Given the description of an element on the screen output the (x, y) to click on. 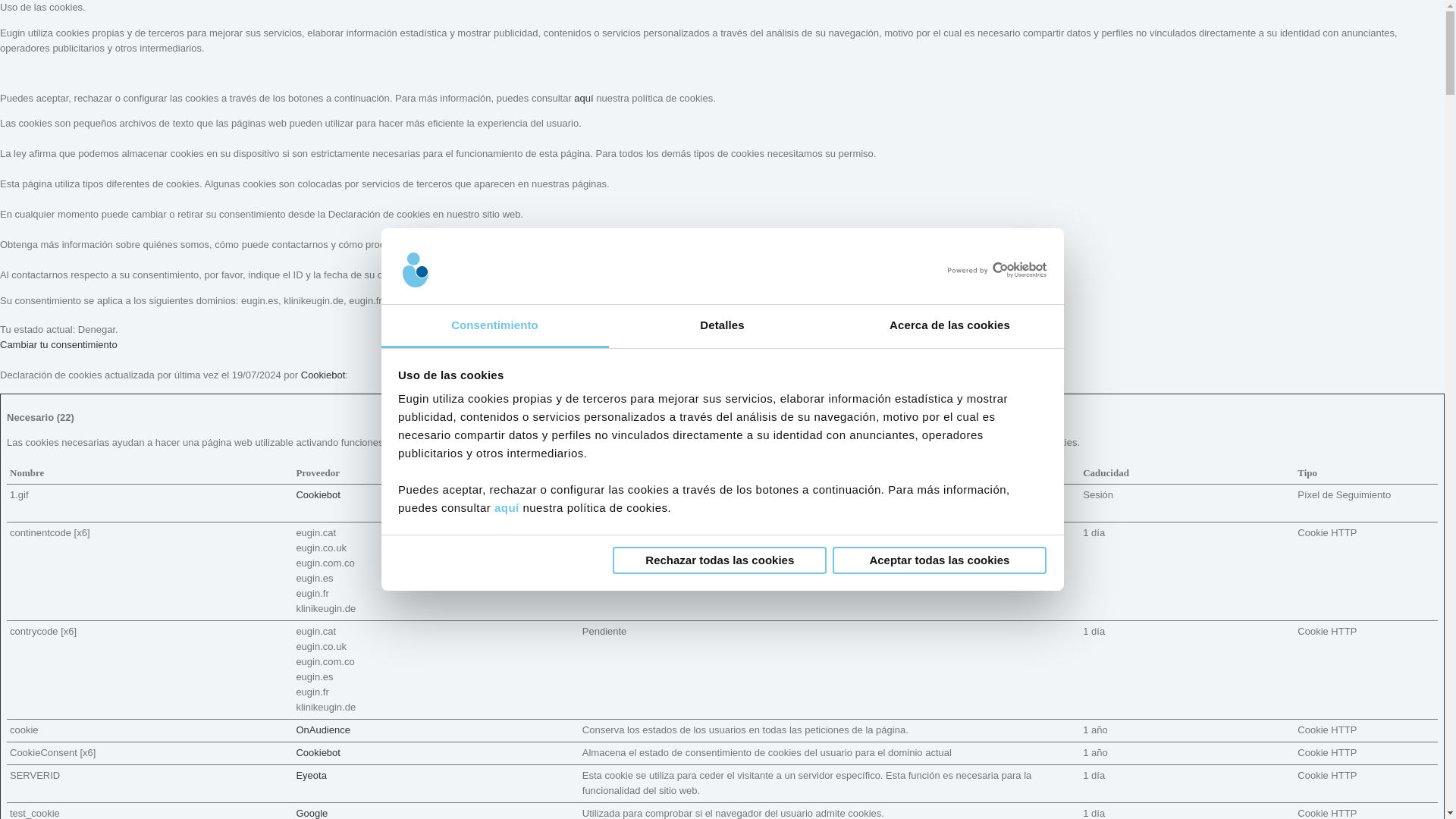
Cambiar tu consentimiento (58, 344)
Cookiebot (323, 374)
Cookiebot (317, 493)
OnAudience (322, 728)
Google (311, 812)
Eyeota (310, 774)
Cookiebot (323, 374)
Cookiebot (317, 751)
